Given the description of an element on the screen output the (x, y) to click on. 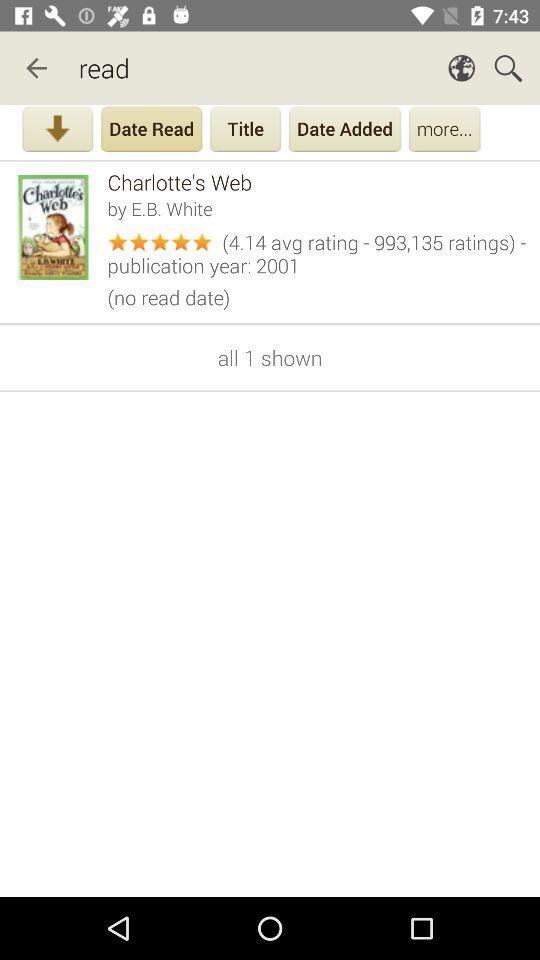
click the item above (no read date) icon (316, 251)
